Given the description of an element on the screen output the (x, y) to click on. 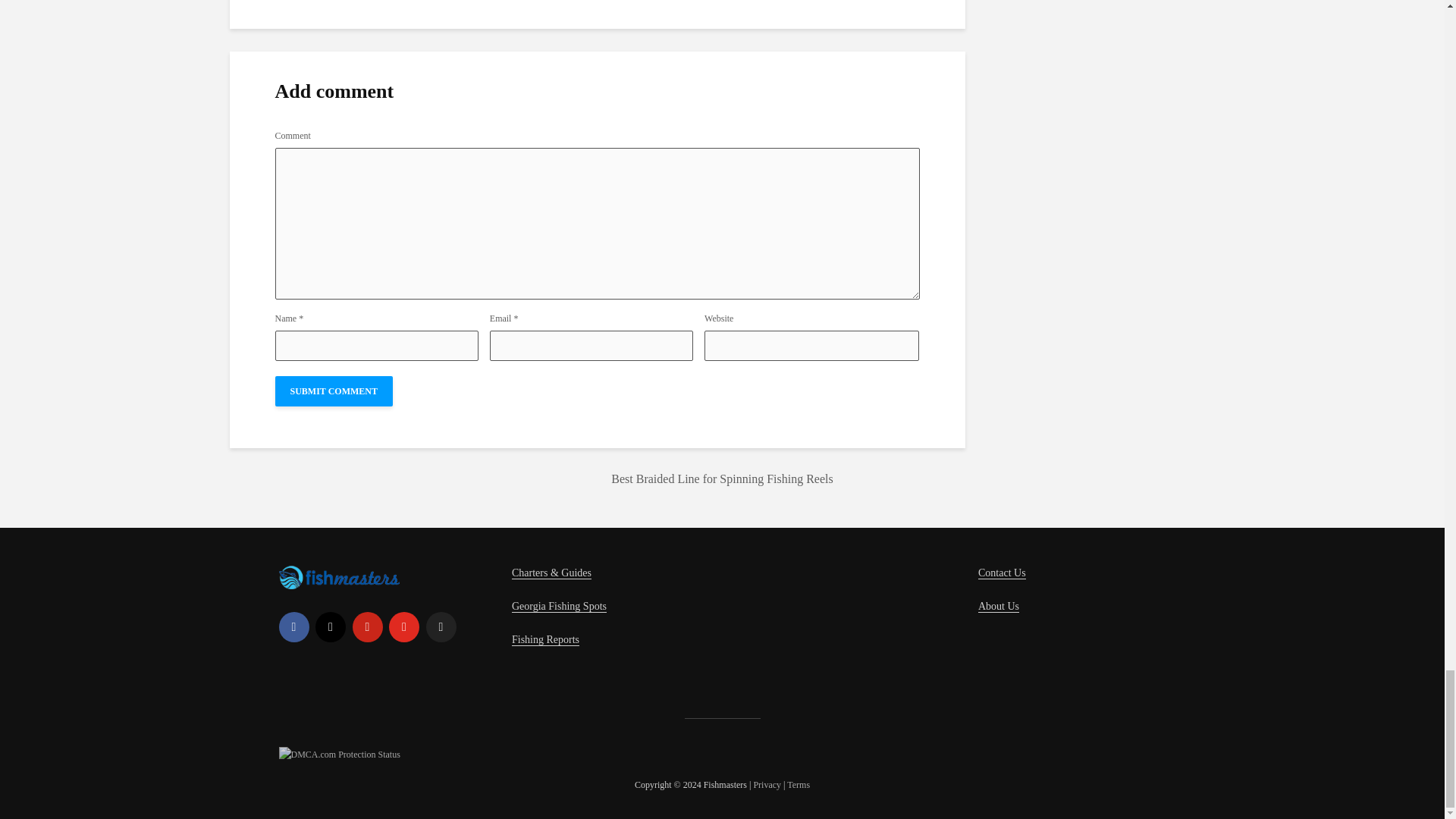
Submit Comment (333, 390)
DMCA.com Protection Status (339, 752)
Instagram (330, 626)
YouTube (403, 626)
Facebook (293, 626)
Pinterest (366, 626)
